Given the description of an element on the screen output the (x, y) to click on. 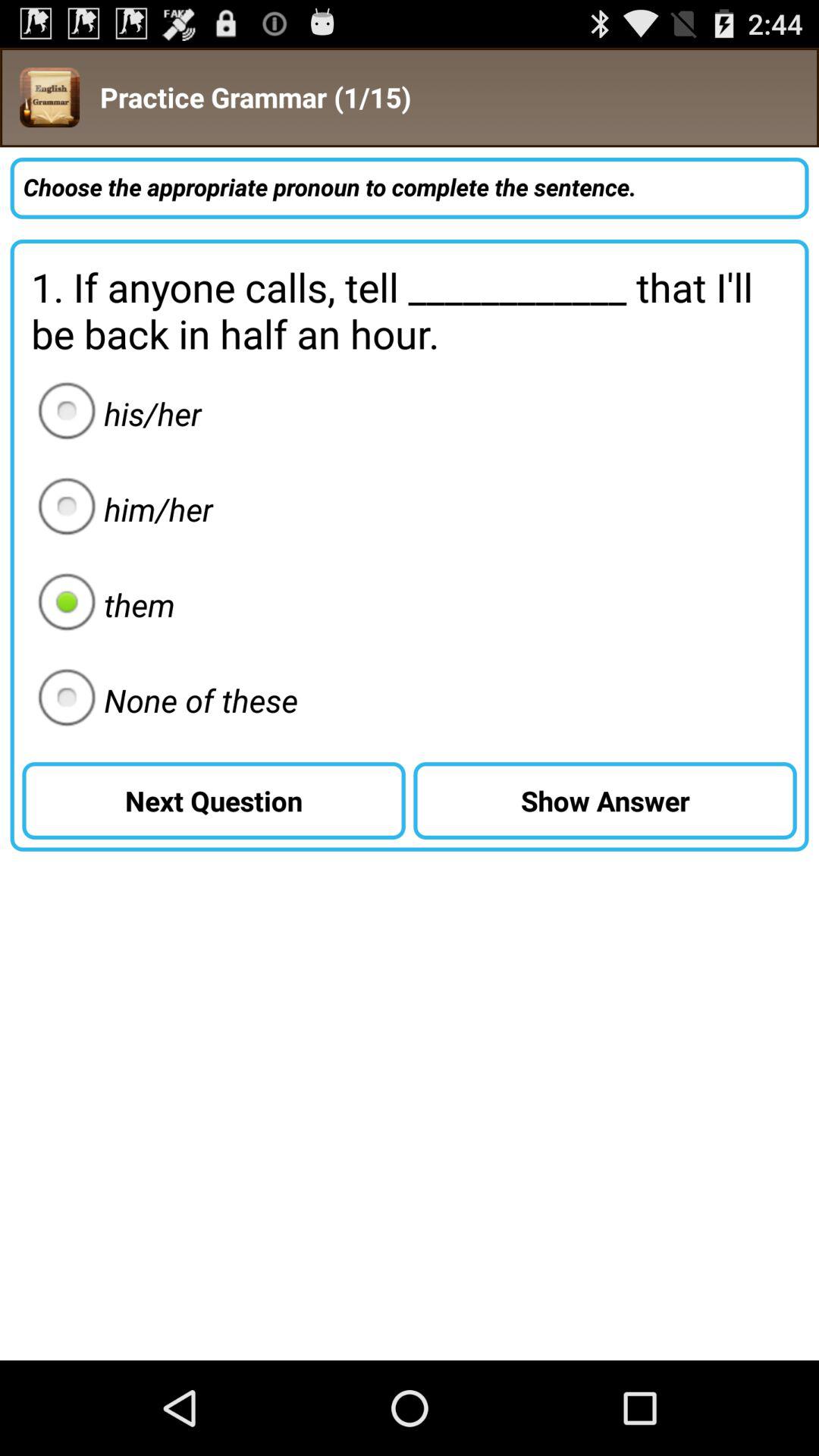
scroll until the none of these item (163, 699)
